Given the description of an element on the screen output the (x, y) to click on. 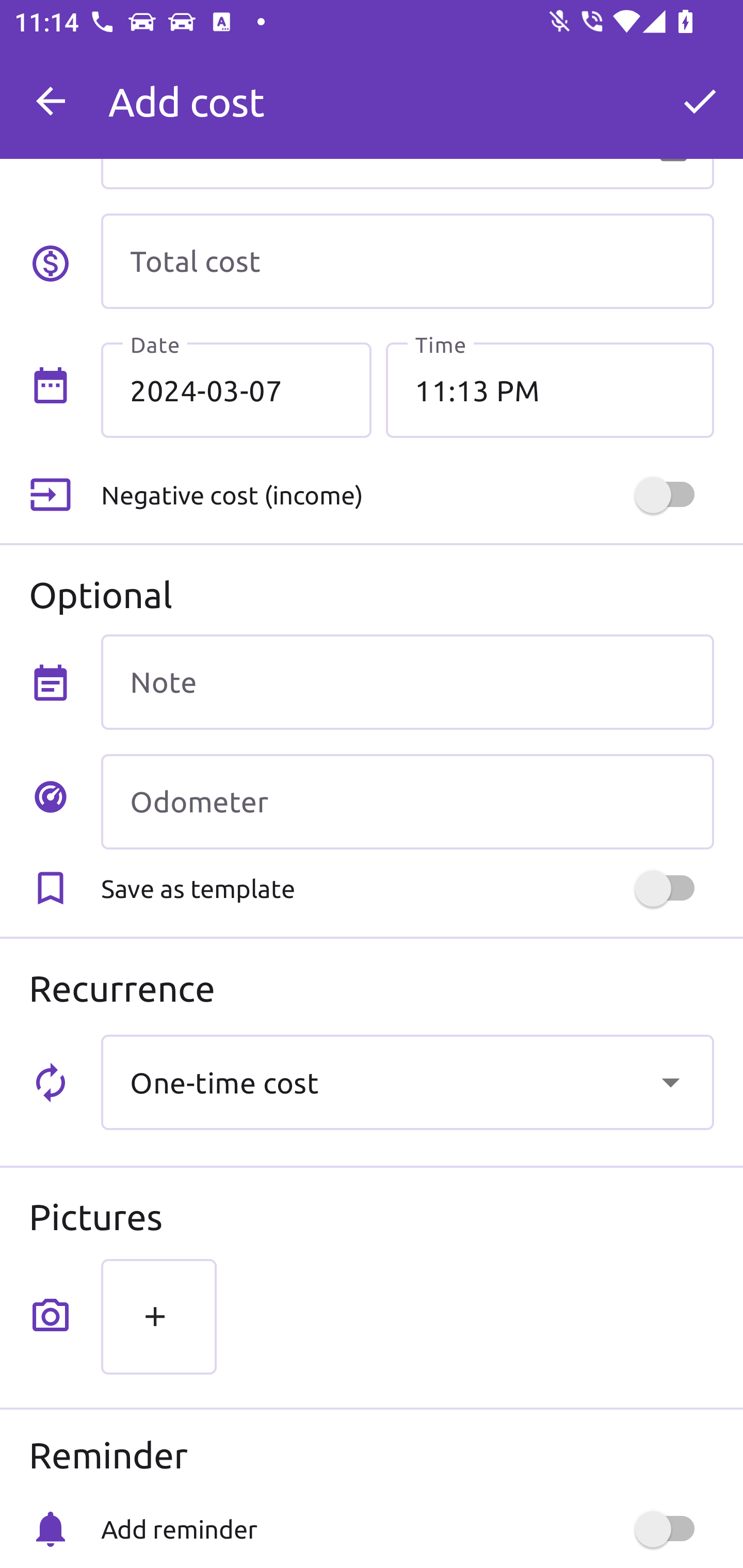
M My Car 0 km (407, 92)
Navigate up (50, 101)
OK (699, 101)
Total cost  (407, 260)
2024-03-07 (236, 389)
11:13 PM (549, 389)
Negative cost (income) (407, 494)
Note (407, 682)
Odometer (407, 801)
Save as template (407, 887)
One-time cost (407, 1082)
Show dropdown menu (670, 1081)
Add reminder (407, 1529)
